Given the description of an element on the screen output the (x, y) to click on. 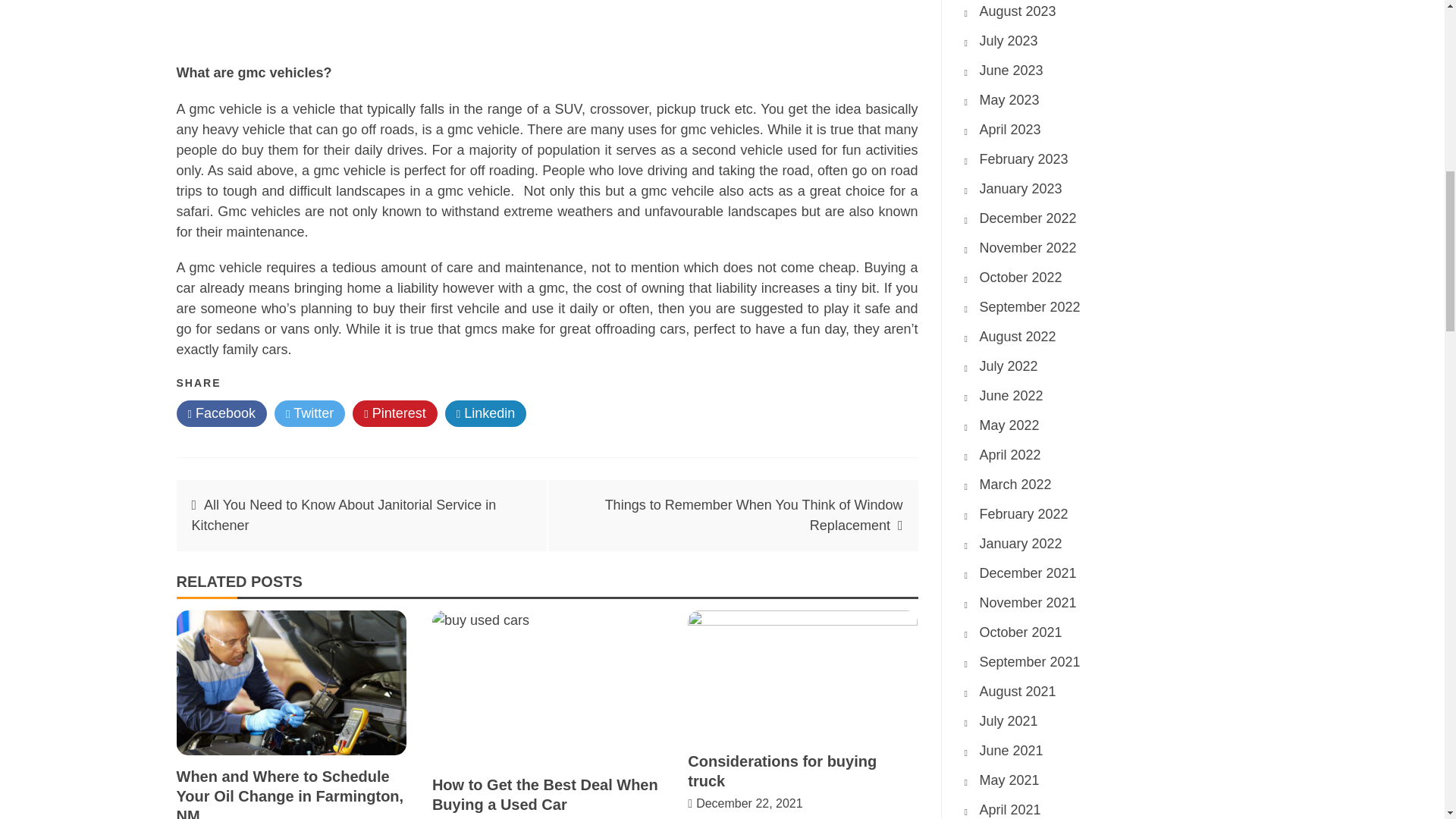
Pinterest (395, 413)
All You Need to Know About Janitorial Service in Kitchener (343, 515)
How to Get the Best Deal When Buying a Used Car (545, 794)
Considerations for buying truck (781, 770)
Twitter (310, 413)
December 22, 2021 (749, 802)
Facebook (221, 413)
When and Where to Schedule Your Oil Change in Farmington, NM (289, 793)
Things to Remember When You Think of Window Replacement (753, 515)
Linkedin (486, 413)
